Given the description of an element on the screen output the (x, y) to click on. 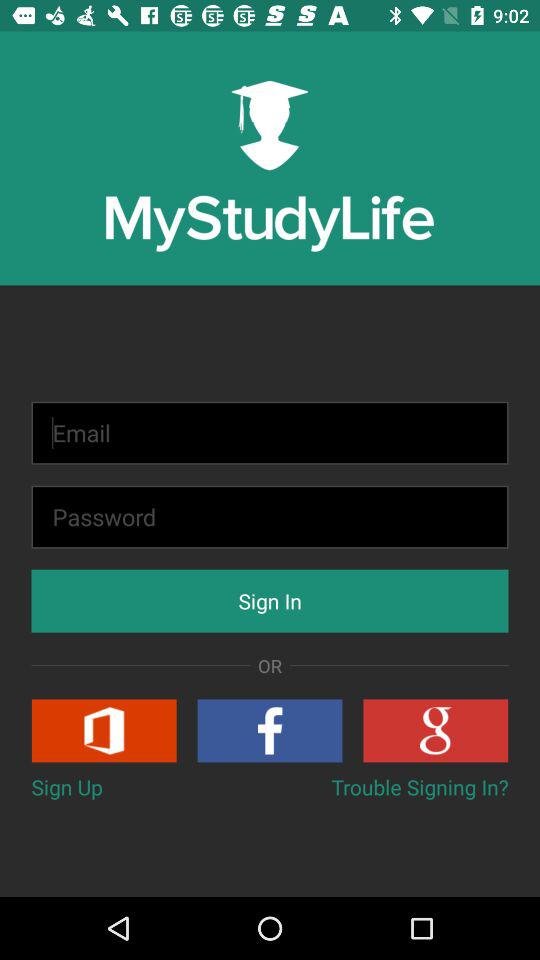
enter email (269, 432)
